Given the description of an element on the screen output the (x, y) to click on. 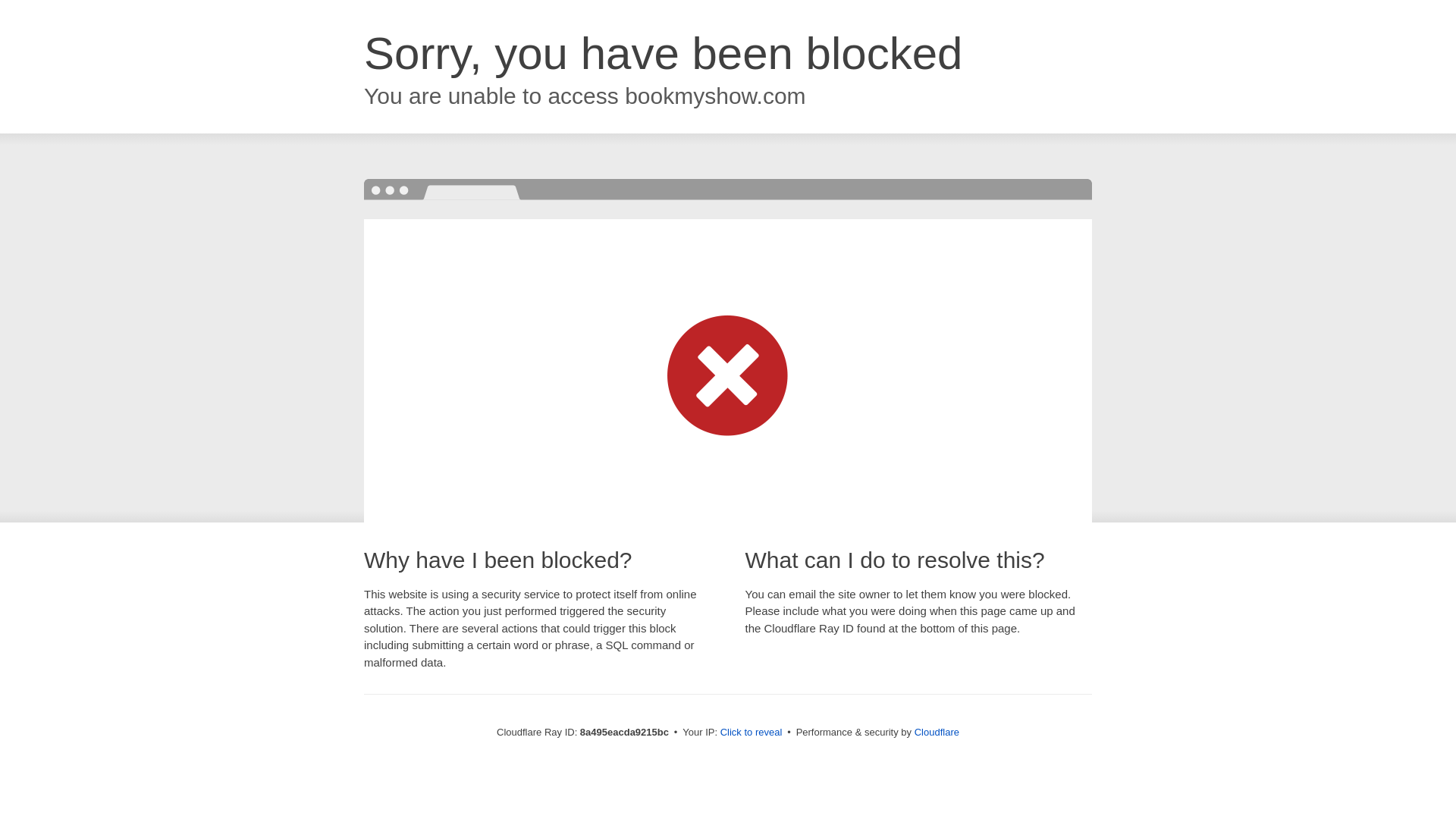
Cloudflare (936, 731)
Click to reveal (751, 732)
